Given the description of an element on the screen output the (x, y) to click on. 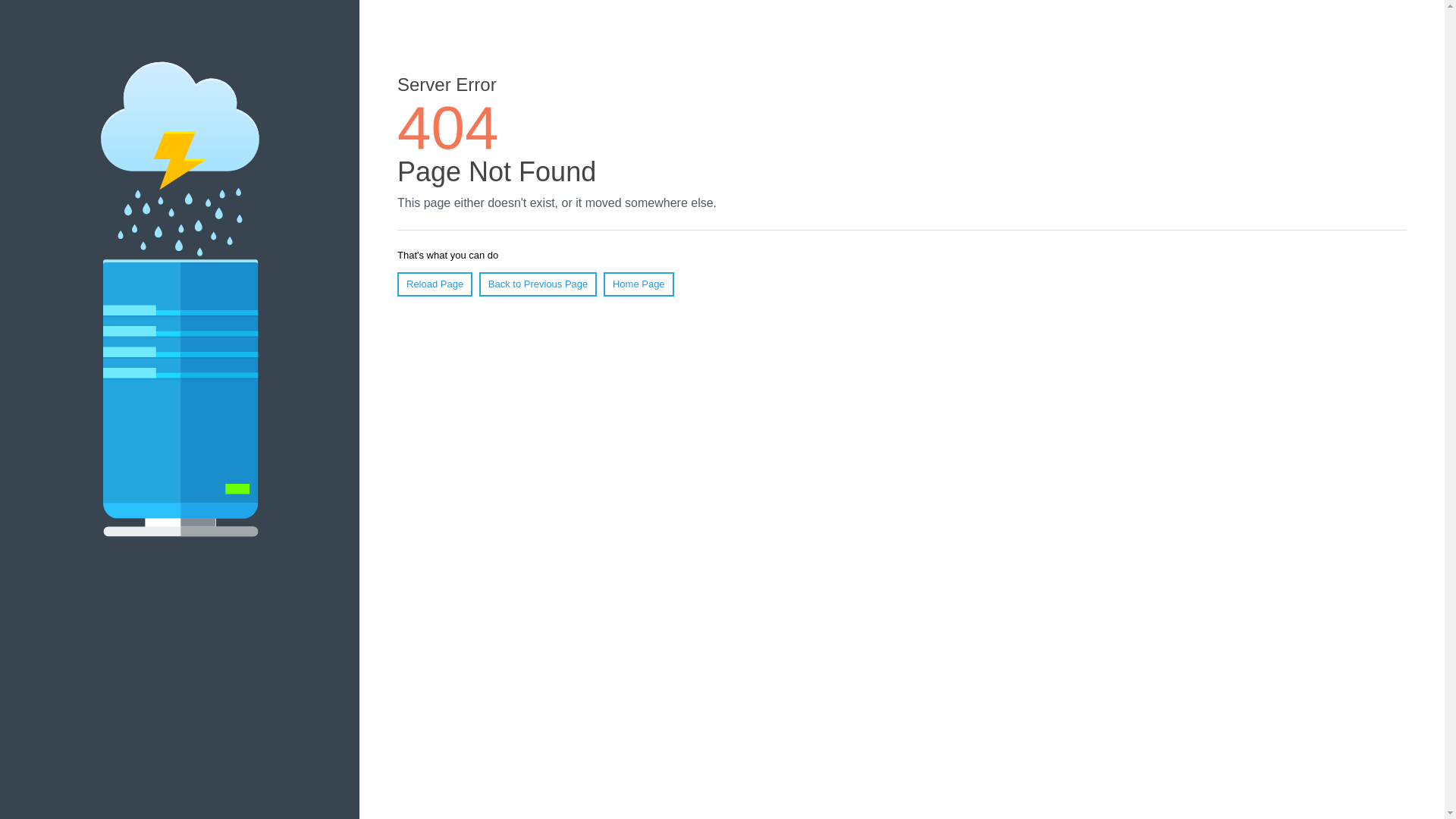
Back to Previous Page Element type: text (538, 284)
Home Page Element type: text (638, 284)
Reload Page Element type: text (434, 284)
